Given the description of an element on the screen output the (x, y) to click on. 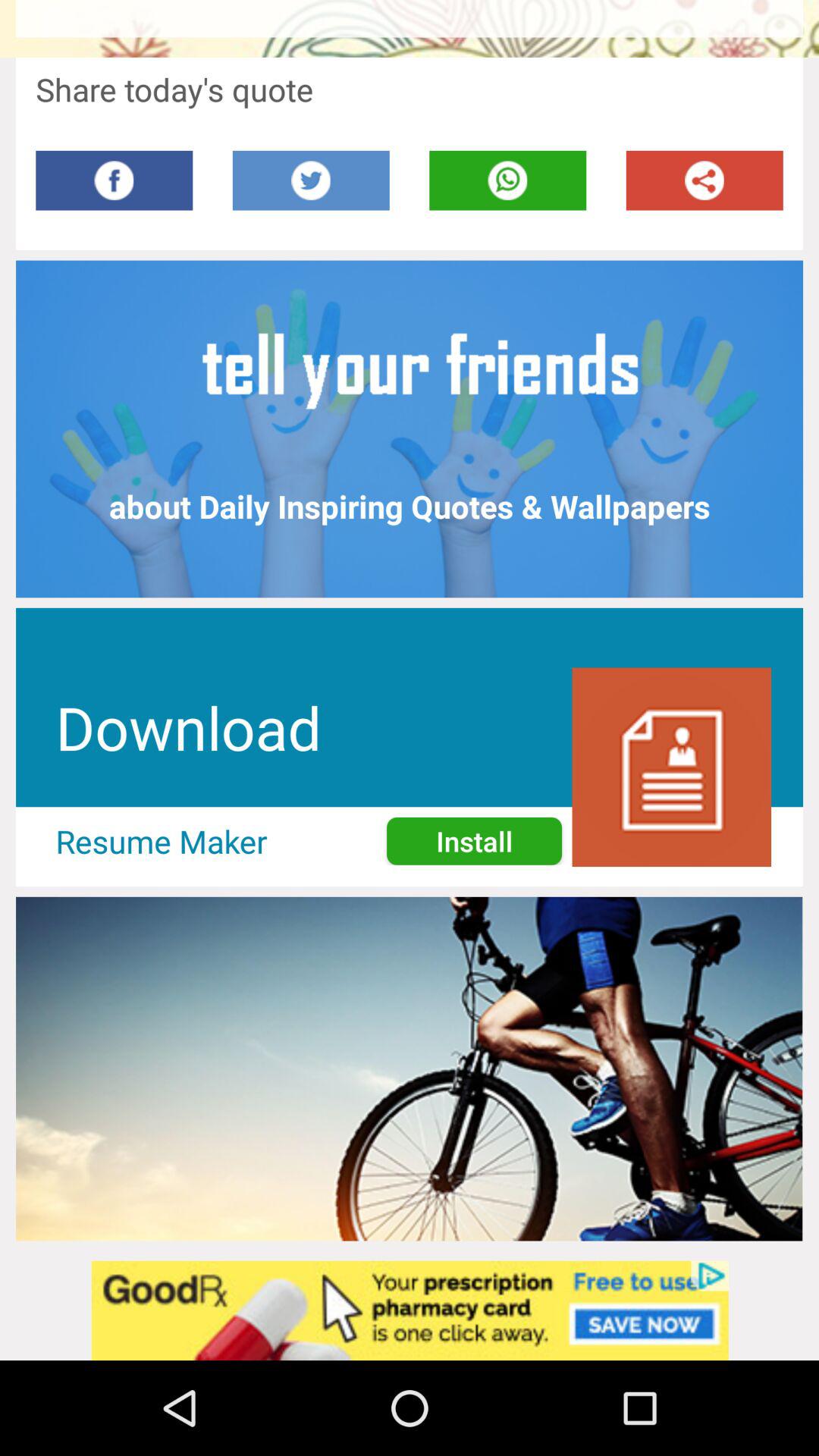
face book option (113, 180)
